Given the description of an element on the screen output the (x, y) to click on. 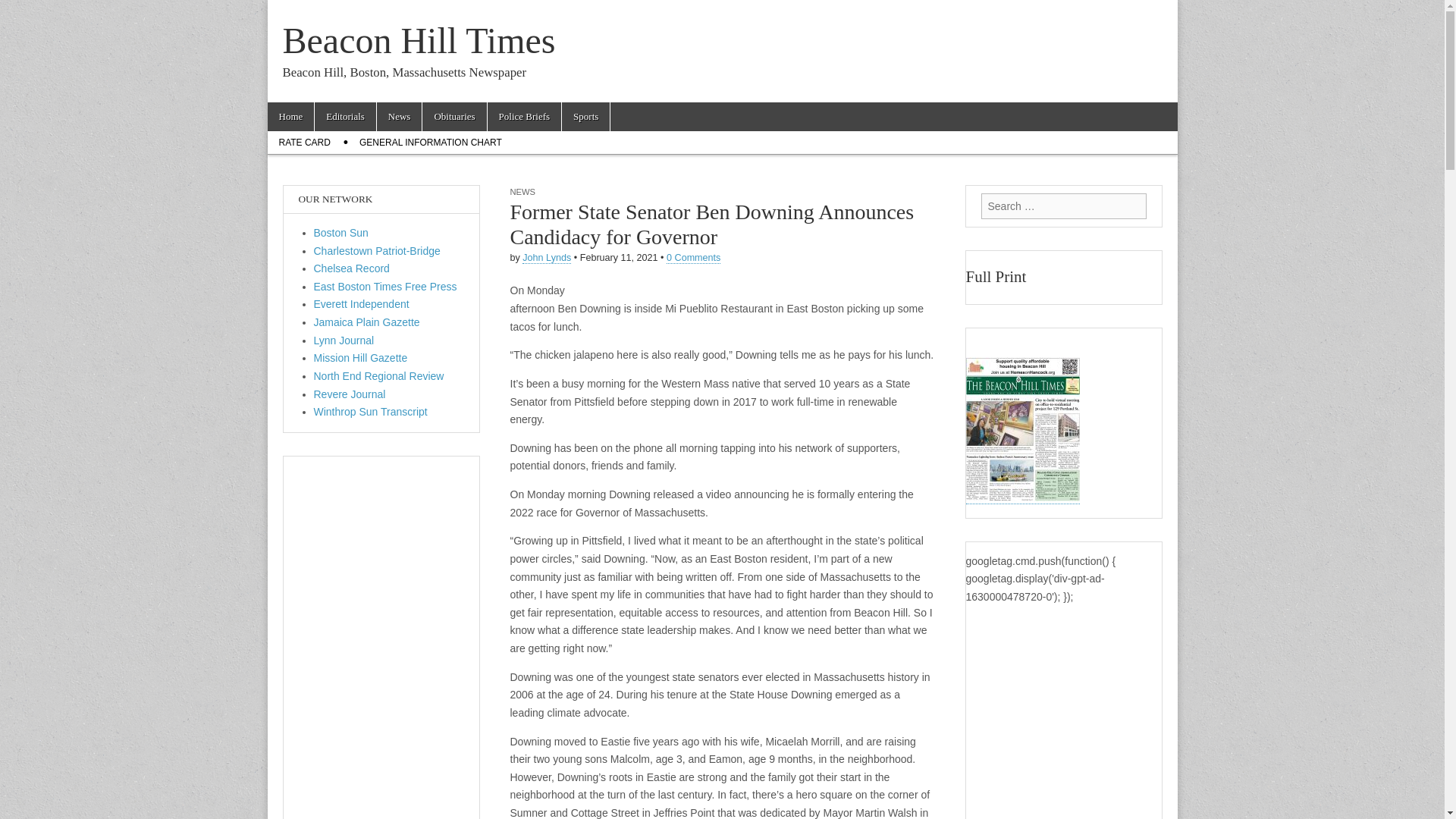
Sports (586, 116)
Beacon Hill Times (418, 40)
Charlestown Patriot-Bridge (377, 250)
News (399, 116)
Beacon Hill Times (418, 40)
Everett Independent (361, 304)
GENERAL INFORMATION CHART (430, 142)
0 Comments (693, 257)
Police Briefs (524, 116)
Revere Journal (349, 394)
Obituaries (454, 116)
Home (290, 116)
John Lynds (546, 257)
